Given the description of an element on the screen output the (x, y) to click on. 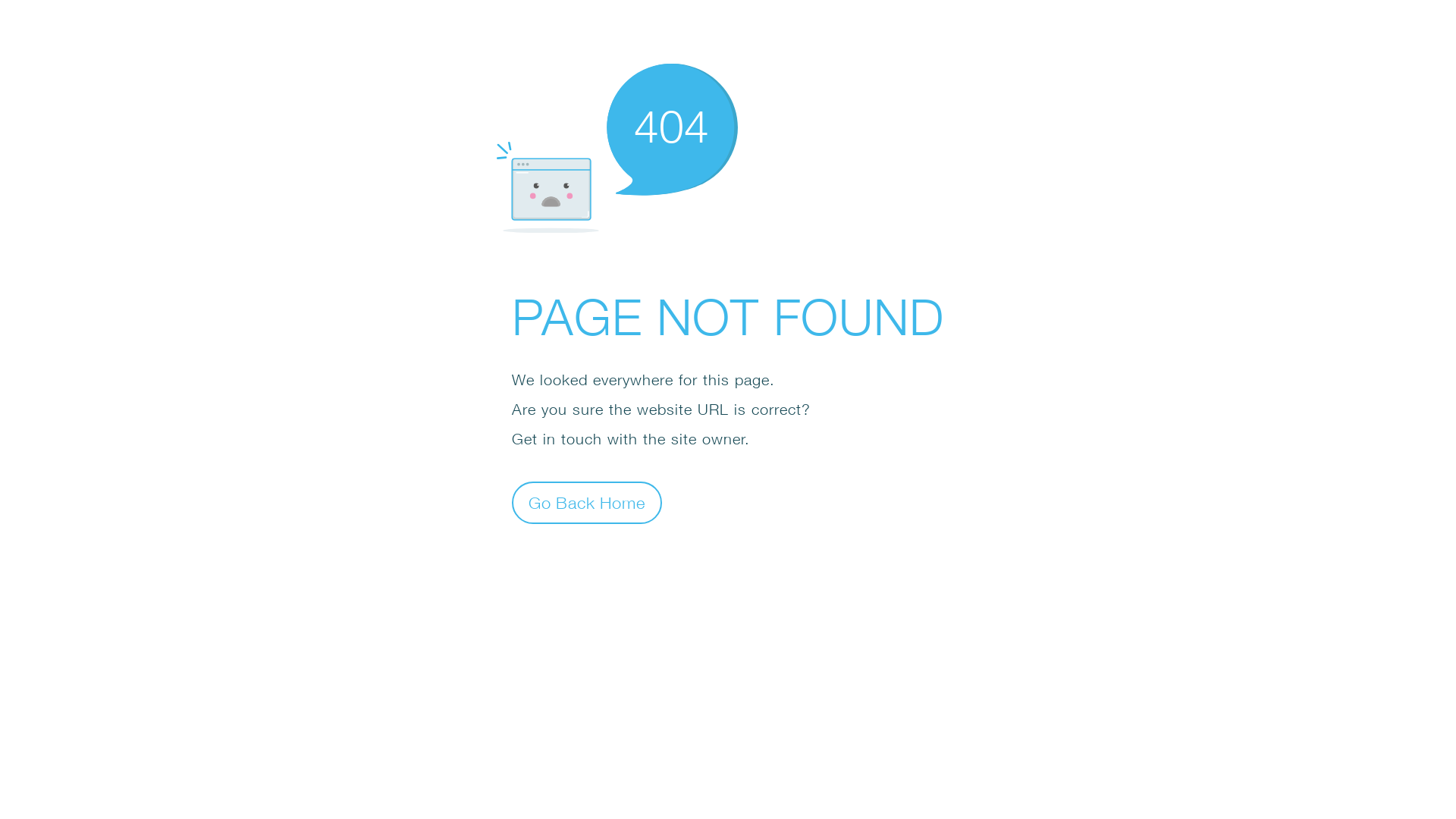
Go Back Home Element type: text (586, 502)
